Given the description of an element on the screen output the (x, y) to click on. 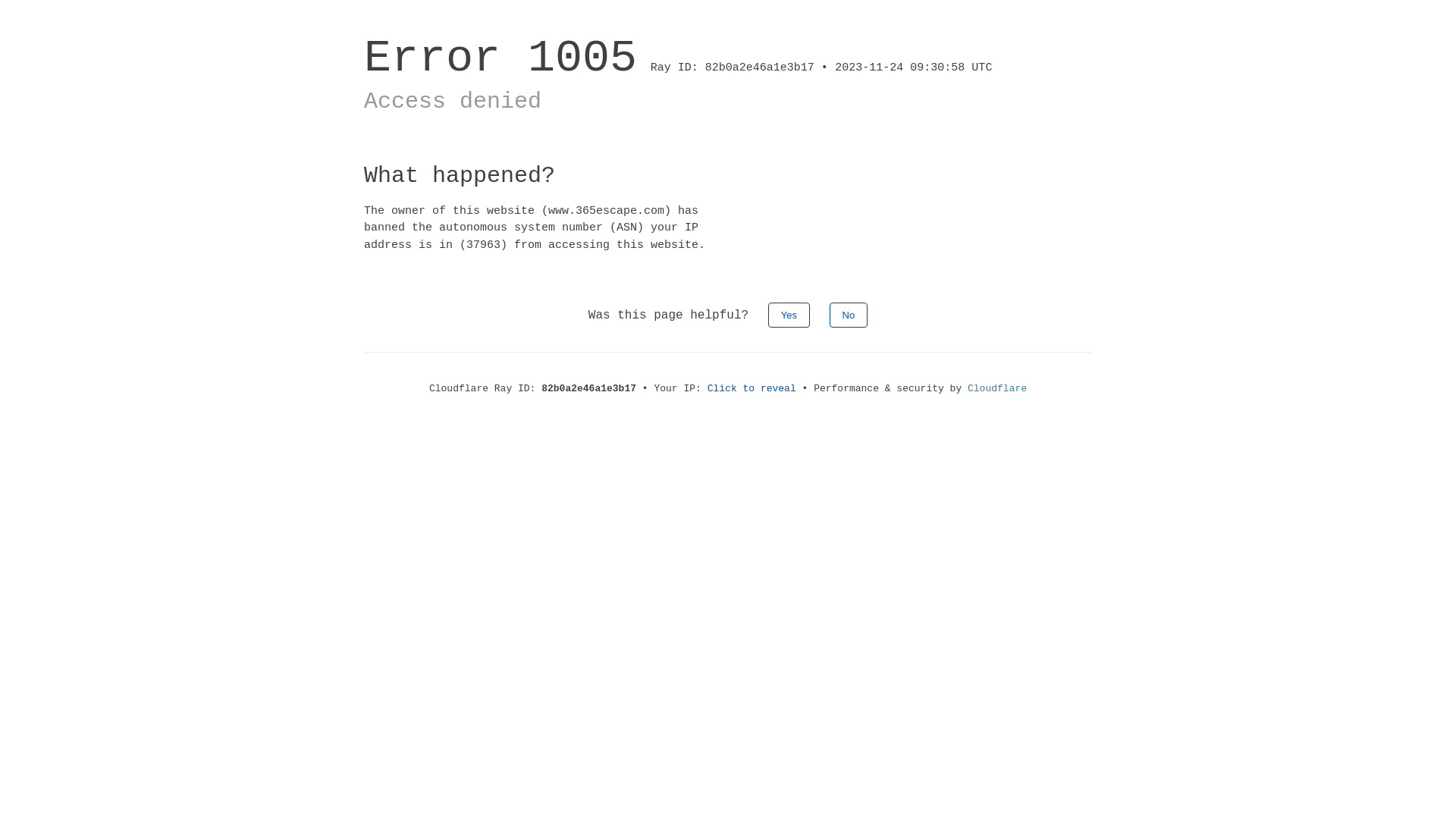
No Element type: text (848, 314)
Click to reveal Element type: text (751, 388)
Yes Element type: text (788, 314)
Cloudflare Element type: text (996, 388)
